Given the description of an element on the screen output the (x, y) to click on. 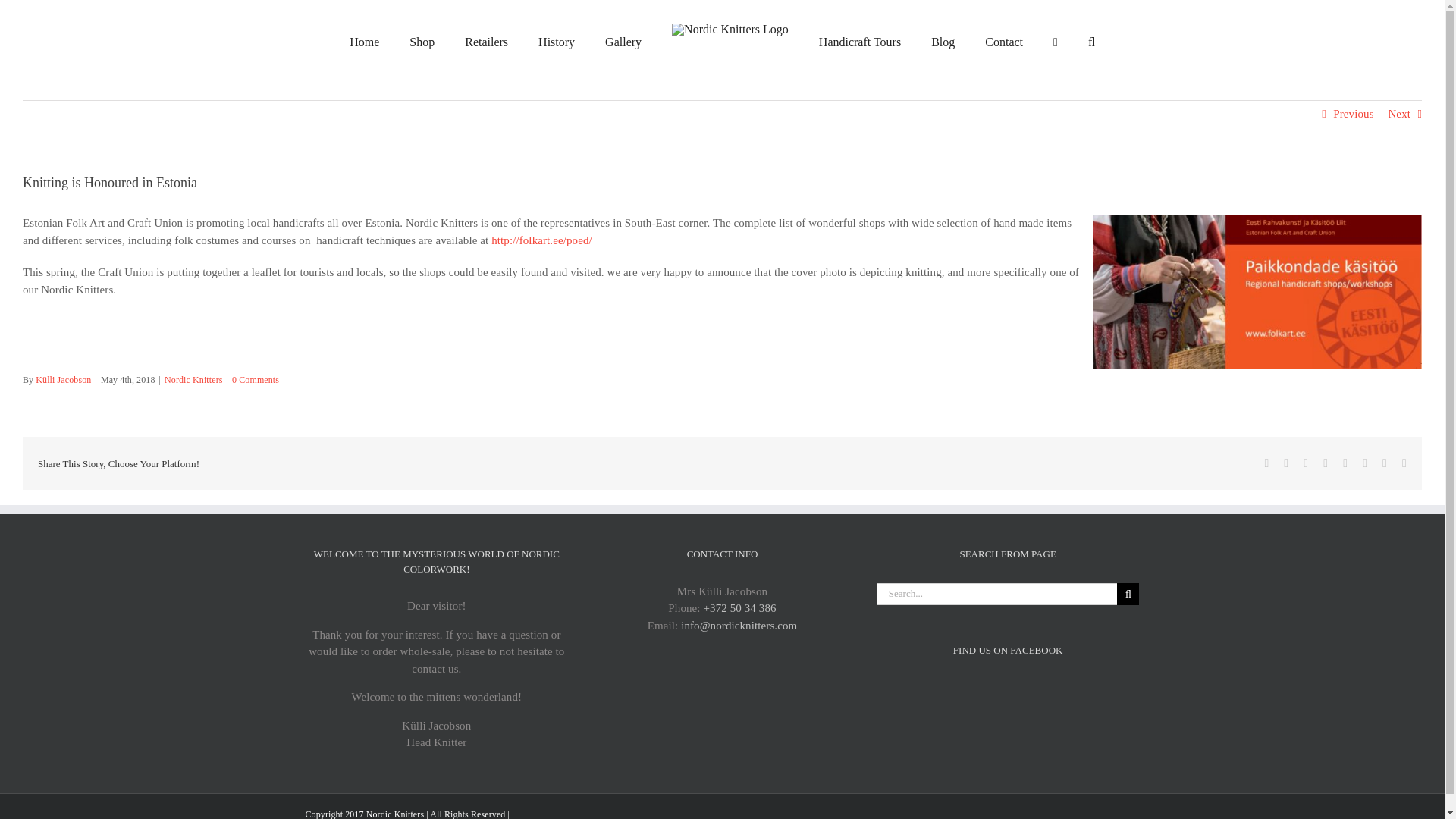
Gallery (623, 42)
0 Comments (255, 379)
Contact (1004, 42)
Nordic Knitters (394, 814)
Nordic Knitters (193, 379)
Handicraft Tours (859, 42)
Home (363, 42)
Previous (1353, 113)
Retailers (486, 42)
History (556, 42)
